Given the description of an element on the screen output the (x, y) to click on. 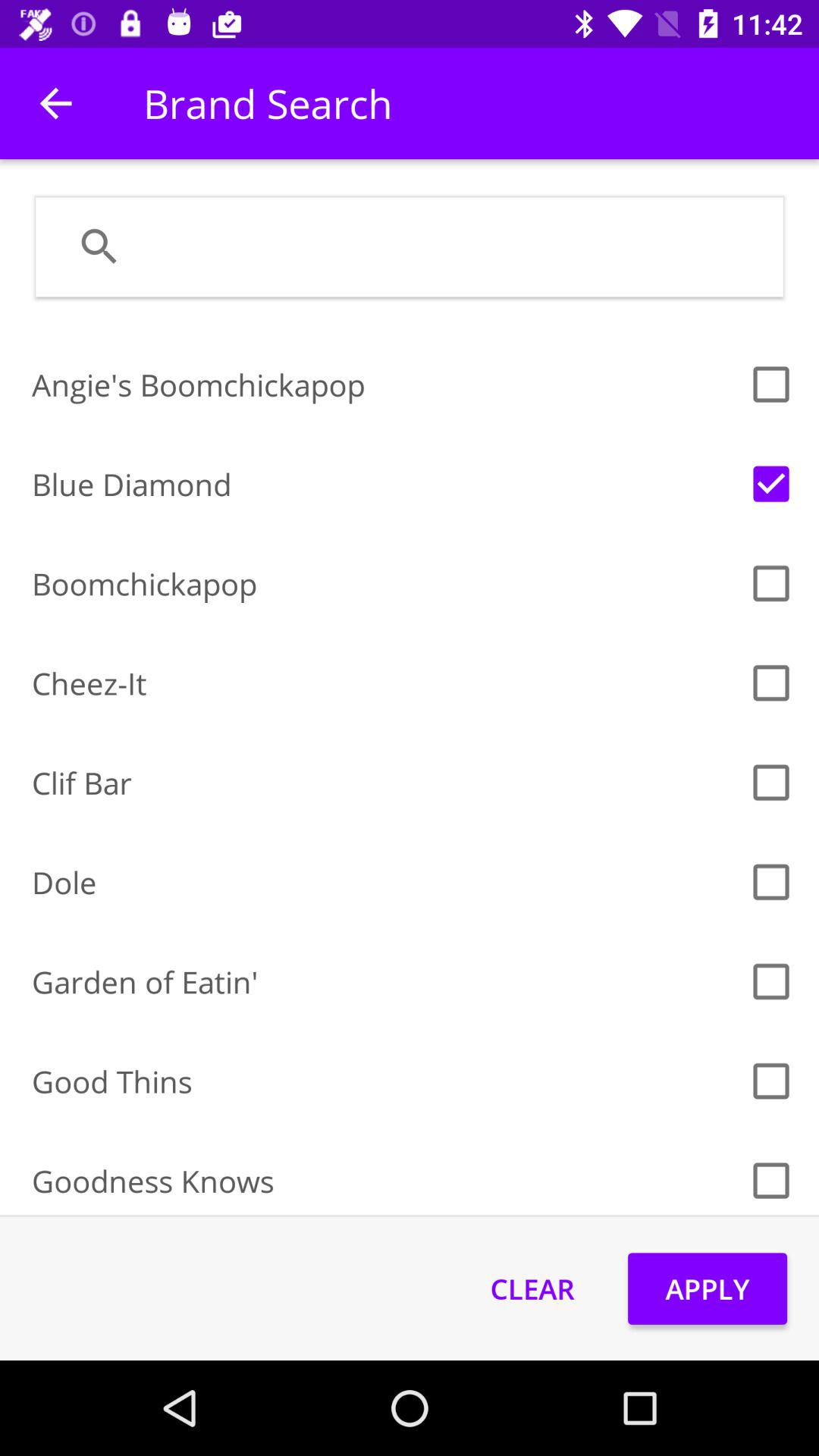
open item next to brand search (55, 103)
